Given the description of an element on the screen output the (x, y) to click on. 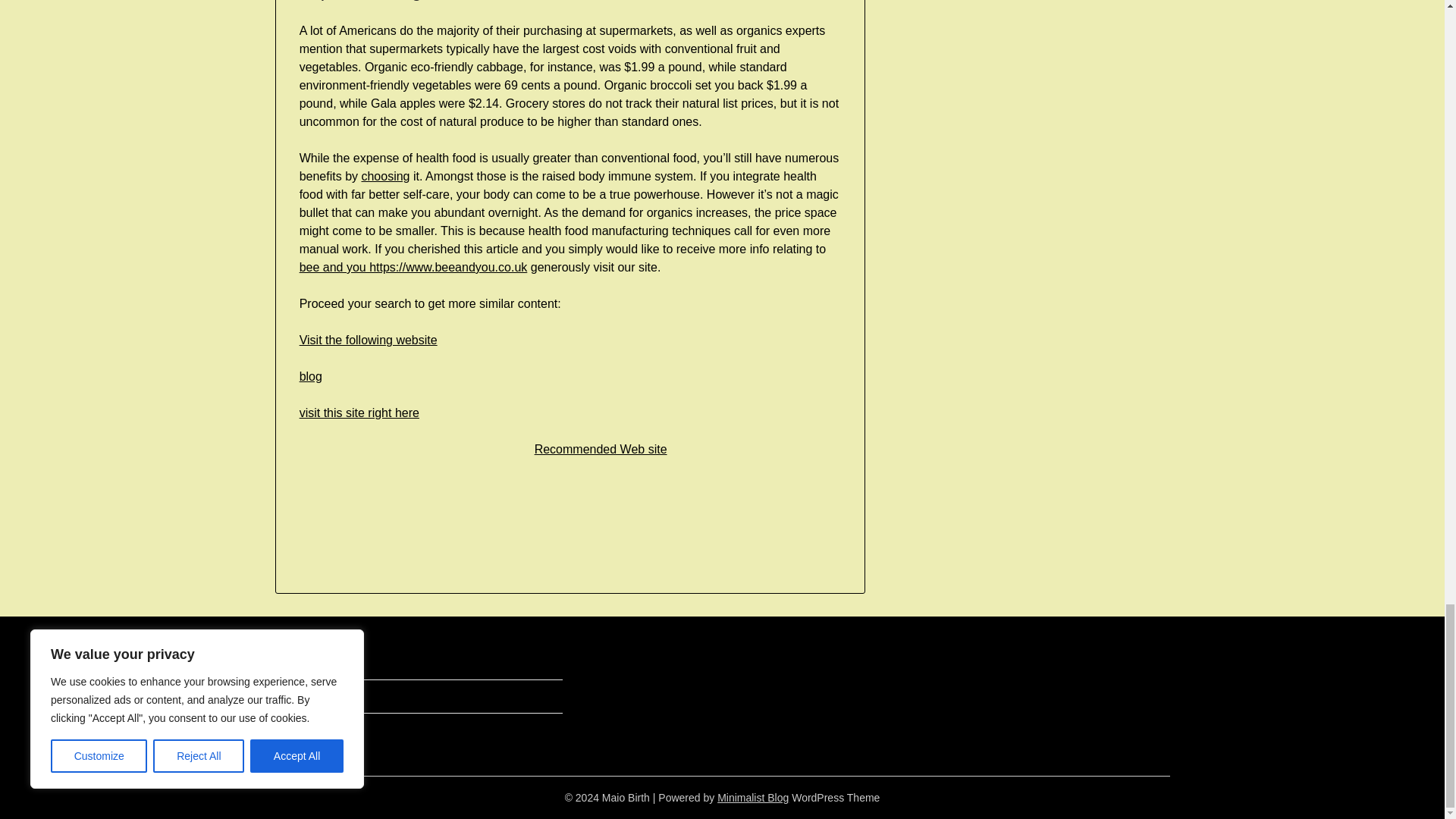
visit this site right here (359, 412)
Visit the following website (368, 339)
blog (310, 376)
Recommended Web site (600, 449)
choosing (385, 175)
